Given the description of an element on the screen output the (x, y) to click on. 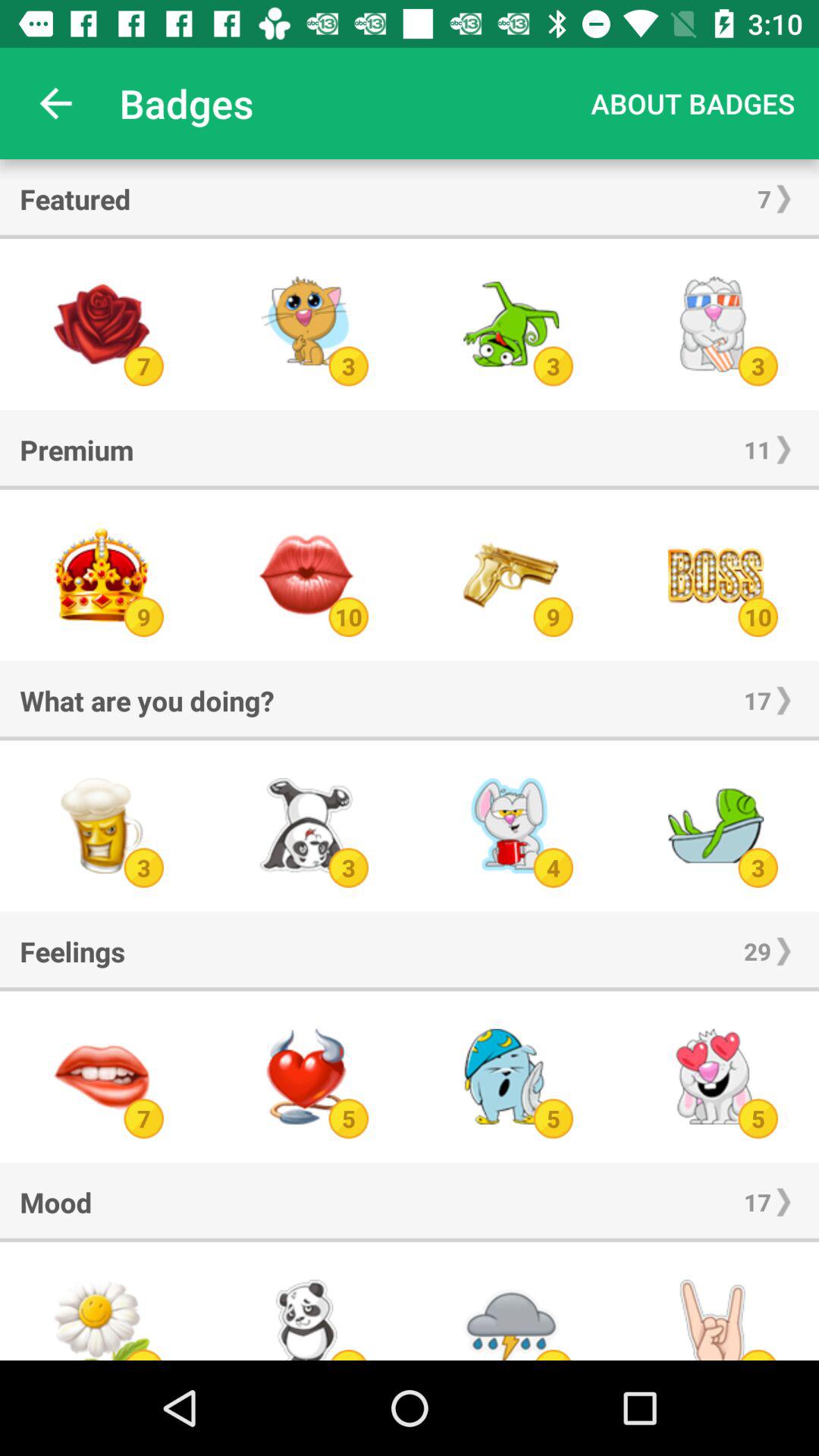
choose the about badges (693, 103)
